Given the description of an element on the screen output the (x, y) to click on. 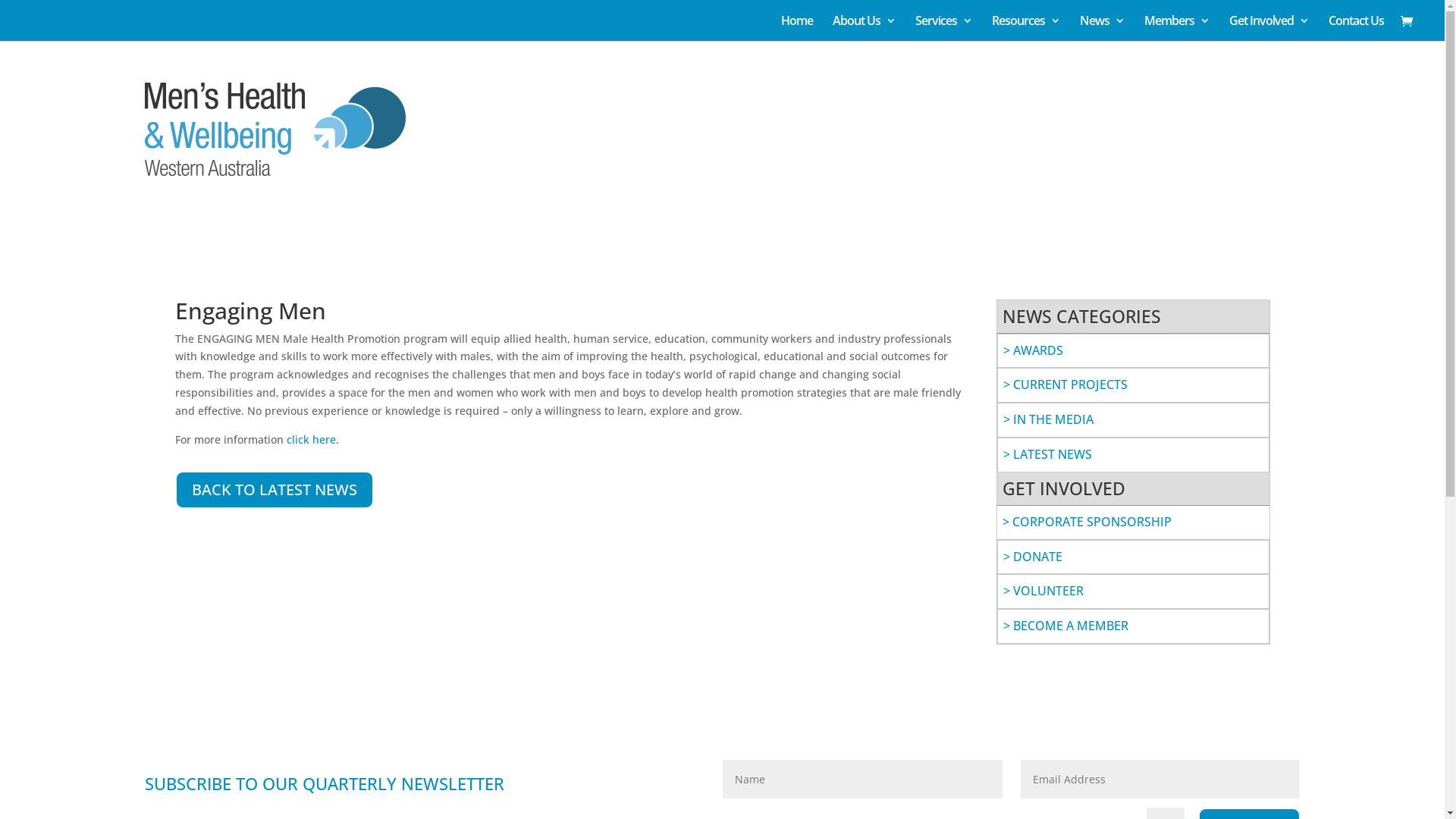
click here Element type: text (310, 439)
News Element type: text (1101, 27)
About Us Element type: text (863, 27)
> DONATE Element type: text (1031, 556)
Get Involved Element type: text (1268, 27)
Resources Element type: text (1025, 27)
> IN THE MEDIA Element type: text (1047, 419)
> BECOME A MEMBER Element type: text (1064, 625)
> CURRENT PROJECTS Element type: text (1064, 384)
> CORPORATE SPONSORSHIP Element type: text (1086, 521)
> AWARDS Element type: text (1032, 350)
BACK TO LATEST NEWS Element type: text (273, 489)
MENs-Website-Homepage-V2_03 (1) Element type: hover (274, 129)
> LATEST NEWS Element type: text (1046, 453)
Home Element type: text (796, 27)
Contact Us Element type: text (1355, 27)
Members Element type: text (1176, 27)
Services Element type: text (943, 27)
> VOLUNTEER Element type: text (1042, 590)
